Given the description of an element on the screen output the (x, y) to click on. 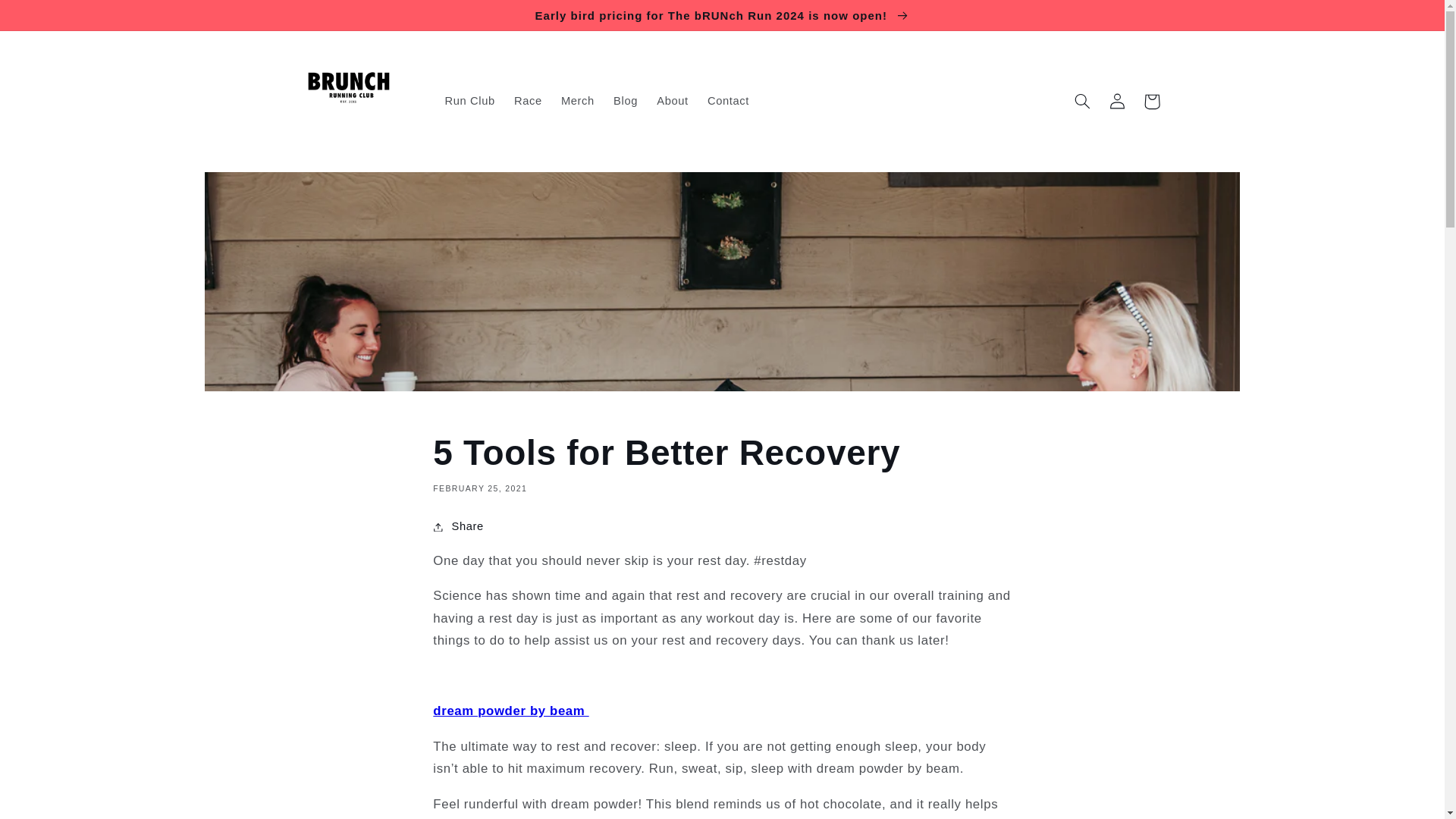
Contact (727, 101)
Blog (625, 101)
Run Club (469, 101)
dream powder by beam  (510, 710)
Log in (1116, 101)
Race (527, 101)
Cart (1151, 101)
Merch (577, 101)
About (672, 101)
Skip to content (48, 18)
